Given the description of an element on the screen output the (x, y) to click on. 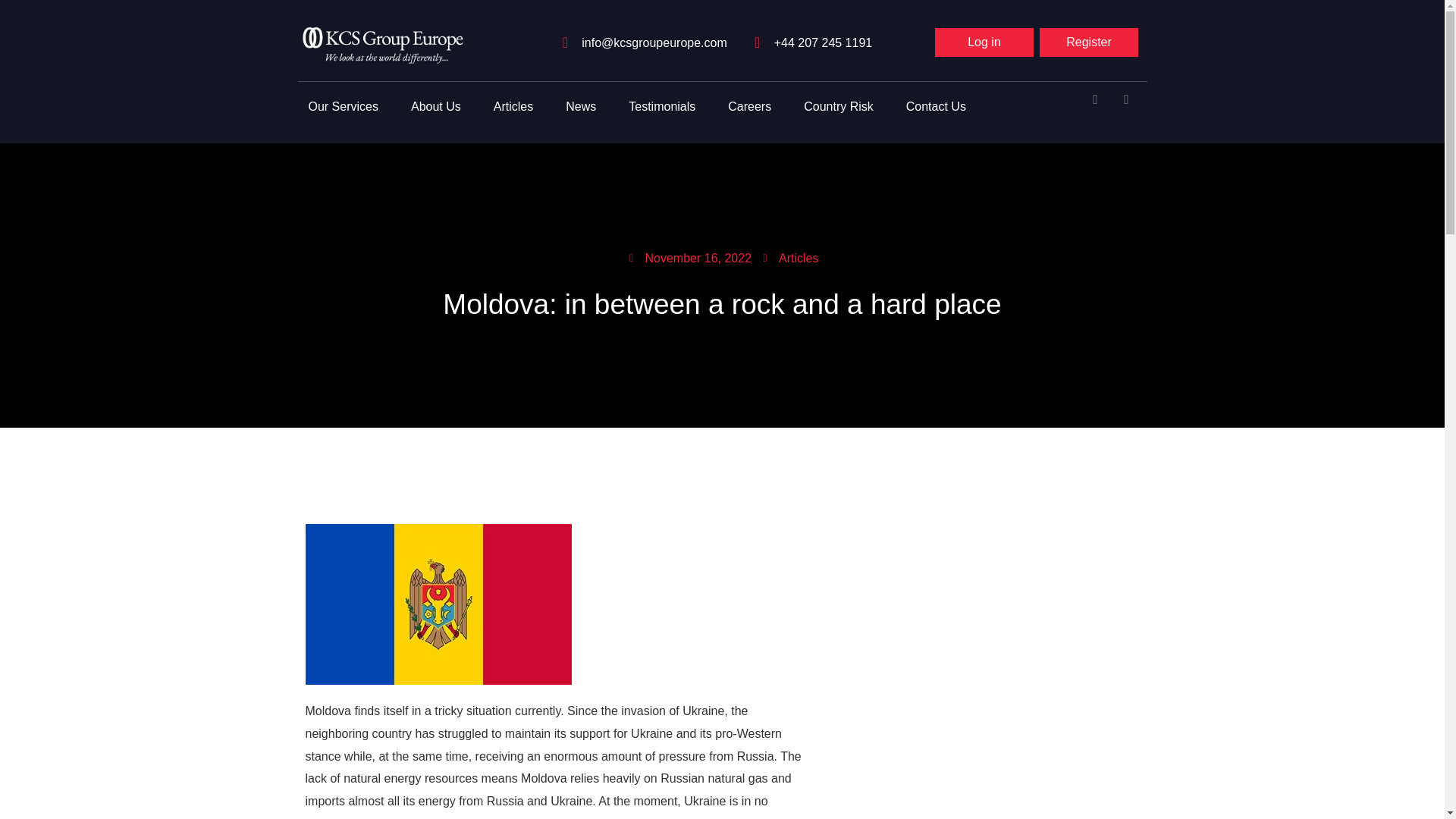
Articles (513, 106)
Register (1088, 41)
Our Services (342, 106)
Log in (983, 41)
Twitter (1102, 105)
Careers (749, 106)
About Us (435, 106)
News (580, 106)
Testimonials (661, 106)
Linkedin (1133, 105)
Country Risk (838, 106)
Contact Us (935, 106)
